Given the description of an element on the screen output the (x, y) to click on. 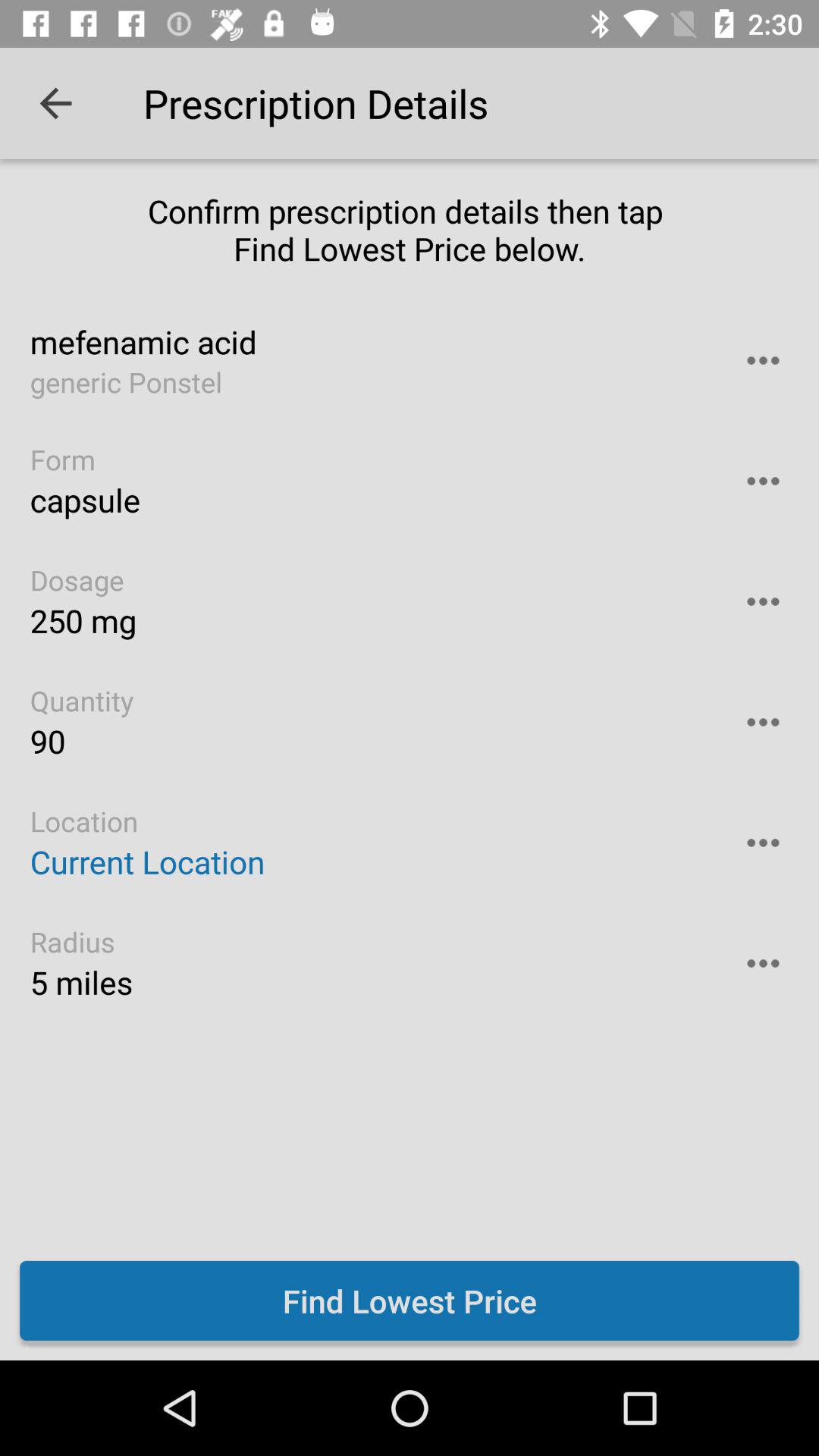
tap the icon next to prescription details item (55, 103)
